Given the description of an element on the screen output the (x, y) to click on. 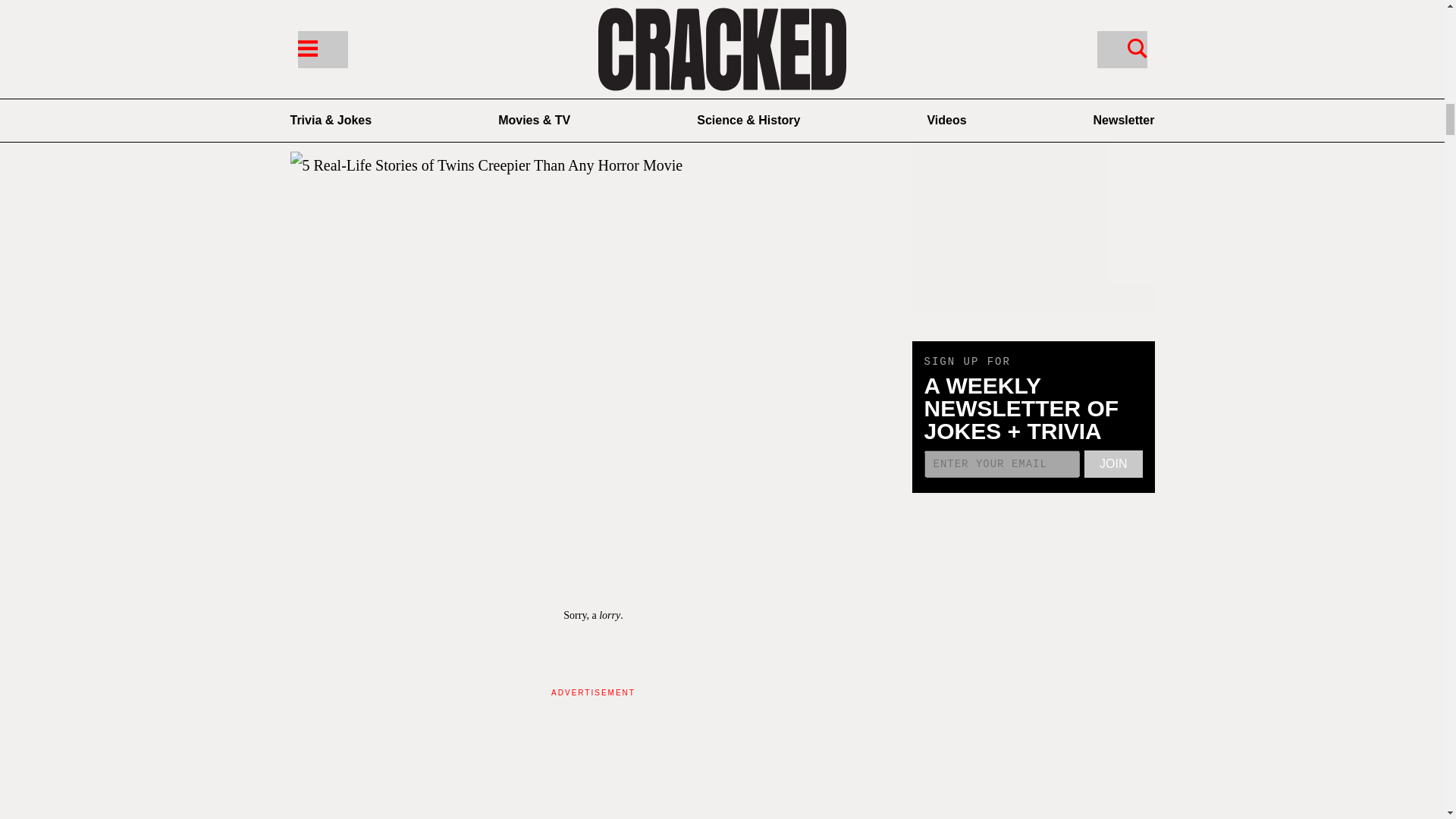
As seen in the video (350, 96)
